Given the description of an element on the screen output the (x, y) to click on. 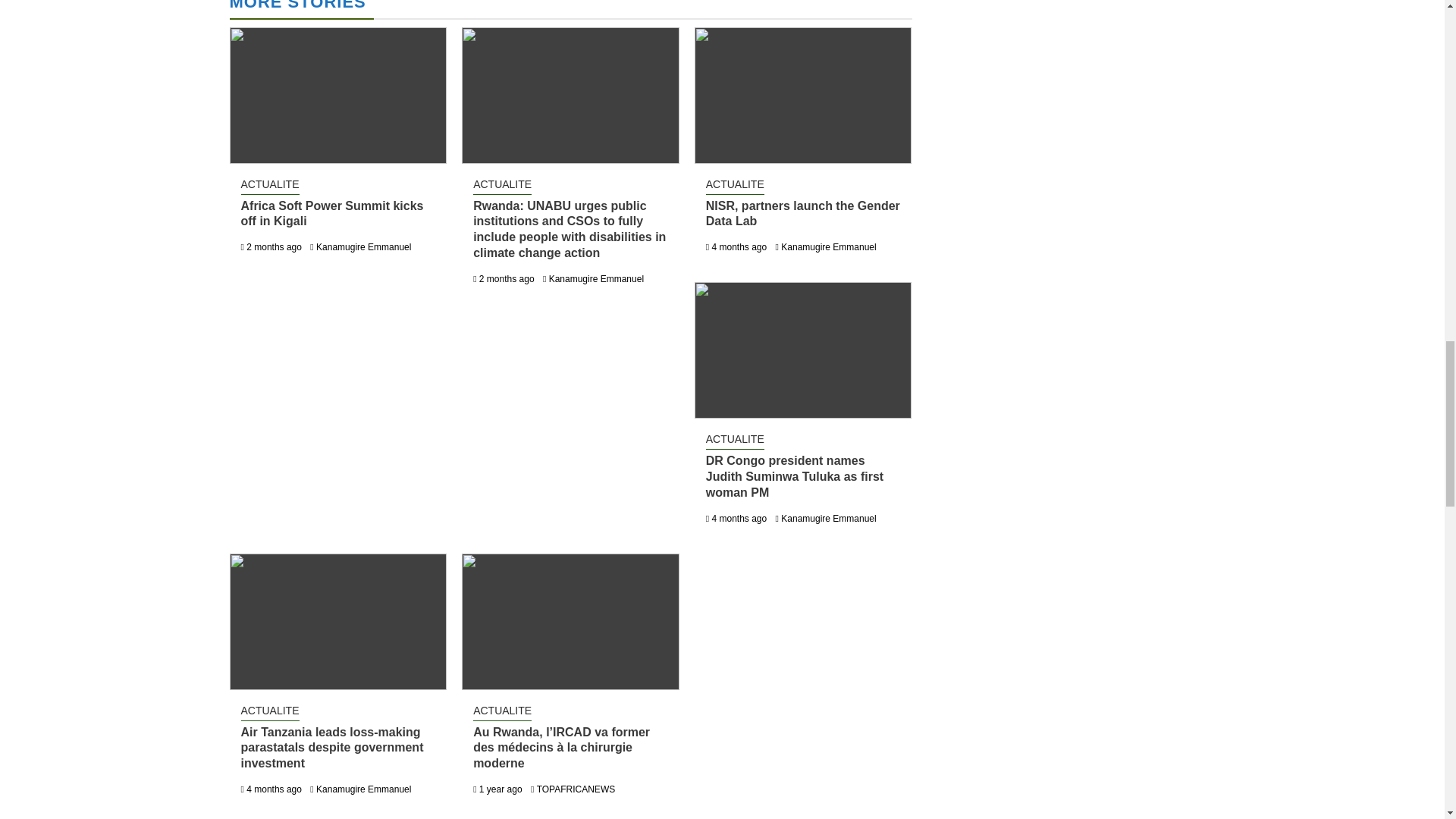
Africa Soft Power Summit kicks off in Kigali (332, 213)
Kanamugire Emmanuel (828, 246)
NISR, partners launch the Gender Data Lab (802, 213)
Kanamugire Emmanuel (362, 246)
ACTUALITE (270, 185)
ACTUALITE (735, 185)
Kanamugire Emmanuel (595, 278)
Kanamugire Emmanuel (828, 518)
